Given the description of an element on the screen output the (x, y) to click on. 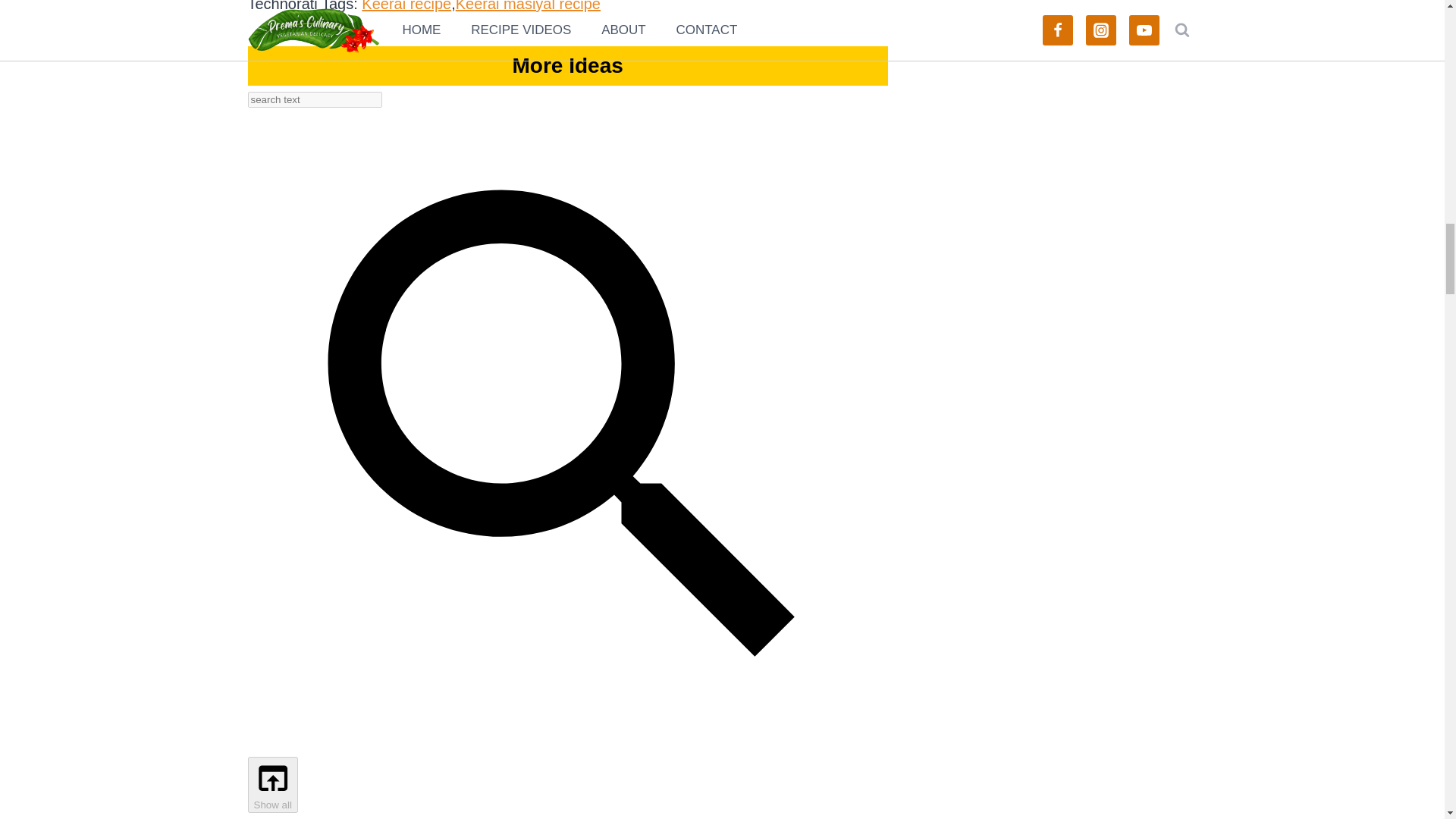
Keerai recipe (406, 6)
Keerai masiyal recipe (527, 6)
